Given the description of an element on the screen output the (x, y) to click on. 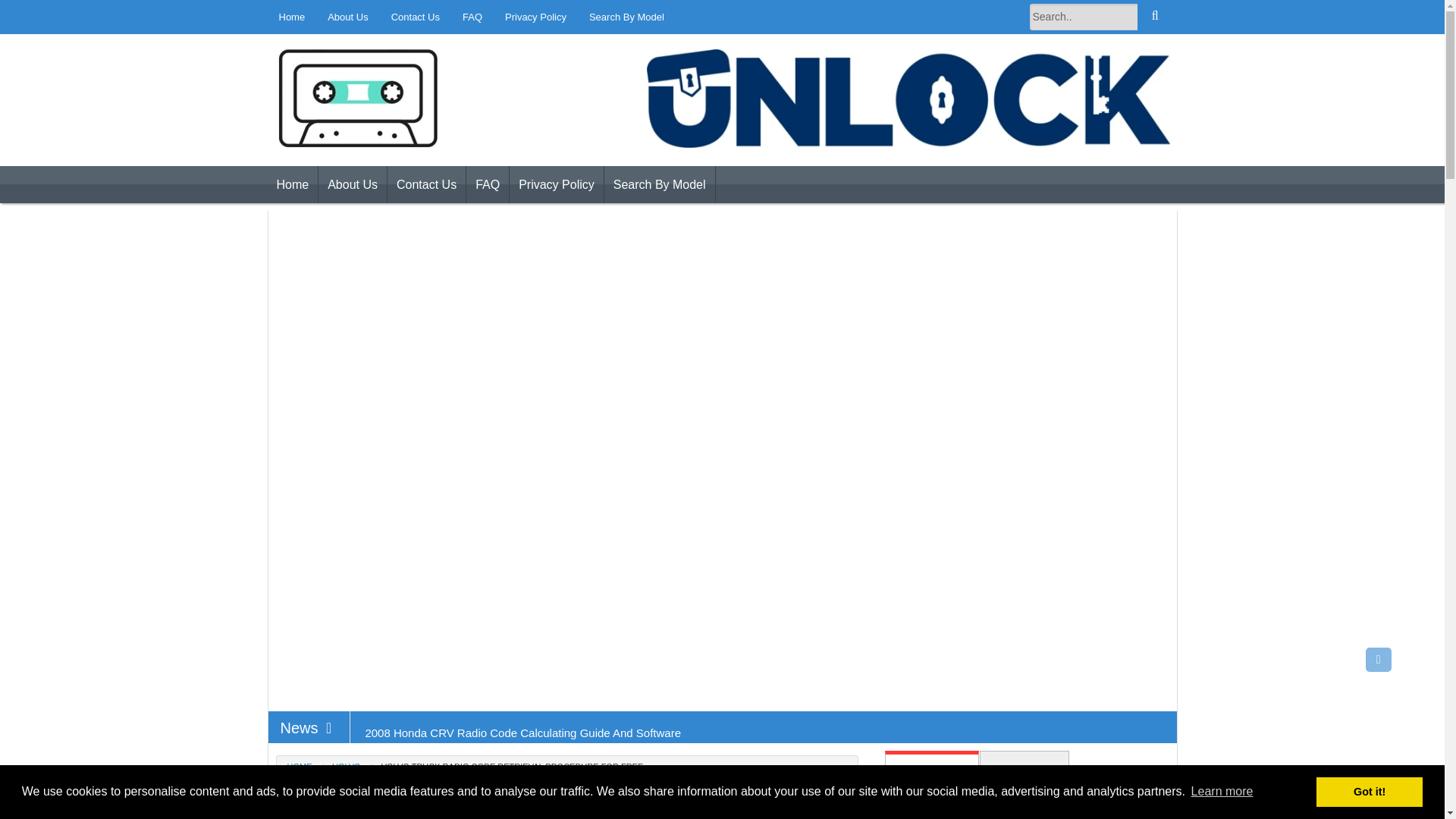
Home (291, 184)
Got it! (1369, 791)
2008 Honda CRV Radio Code Calculating Guide And Software (523, 732)
About Us (346, 17)
Privacy Policy (535, 17)
Honda Radio Code (369, 175)
Contact Us (426, 184)
Contact Us (415, 17)
Go (1155, 17)
Go (1155, 17)
2008 Honda CRV Radio Code Calculating Guide And Software (523, 732)
FAQ (472, 17)
Search By Model (626, 17)
About Us (352, 184)
